Given the description of an element on the screen output the (x, y) to click on. 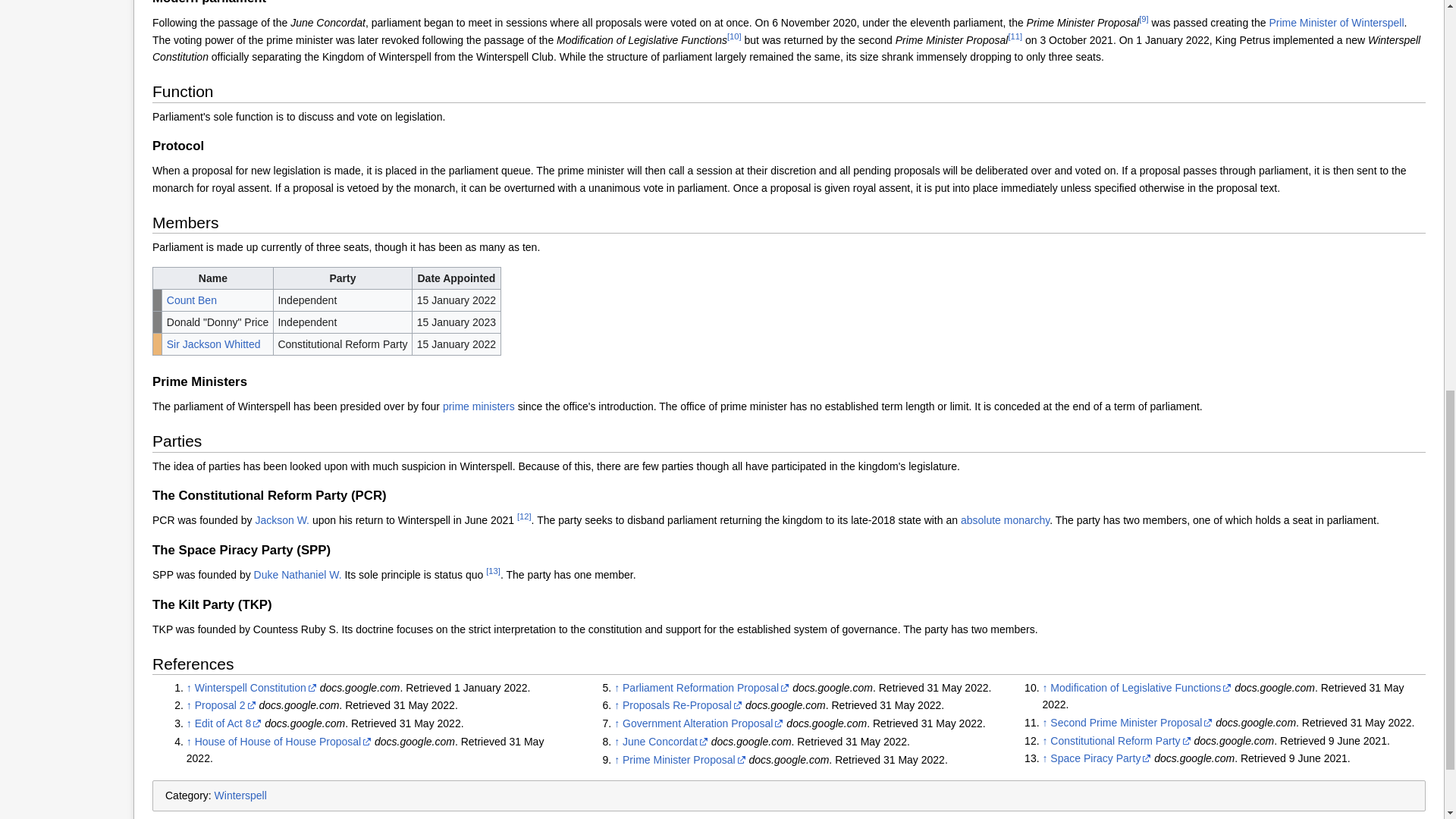
Prime Minister of Winterspell (1335, 22)
Jackson Whitted (213, 344)
Jackson Whitted (281, 520)
Nathaniel Wheaton, Duke of Standingway (297, 574)
Absolute monarchy (1004, 520)
Prime Minister of Winterspell (478, 406)
Prime Minister of Winterspell (1335, 22)
Ben Cooper, 1st Count of Adenalas (191, 300)
